Given the description of an element on the screen output the (x, y) to click on. 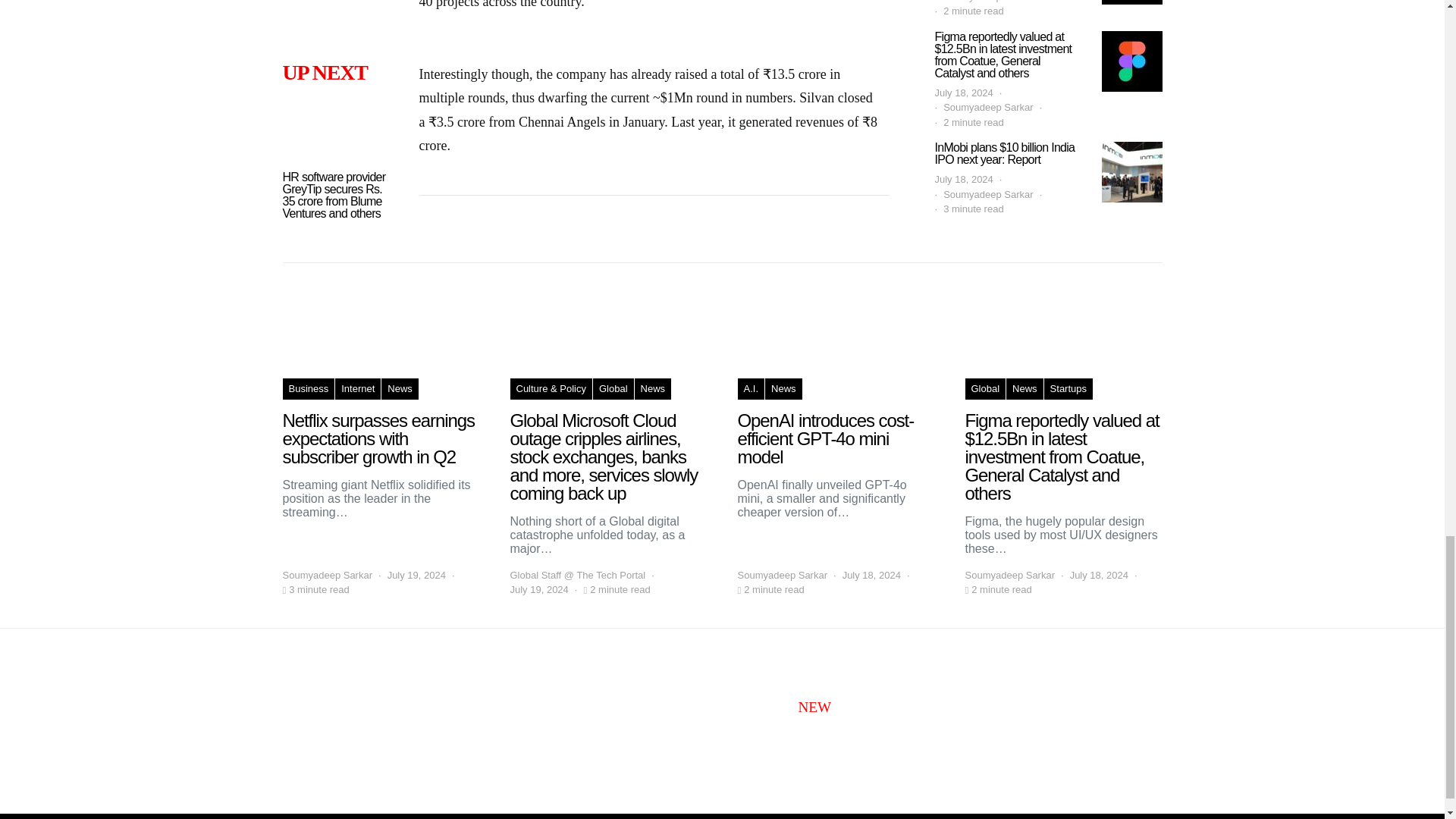
View all posts by Soumyadeep Sarkar (781, 575)
View all posts by Soumyadeep Sarkar (1008, 575)
View all posts by Soumyadeep Sarkar (327, 575)
